Given the description of an element on the screen output the (x, y) to click on. 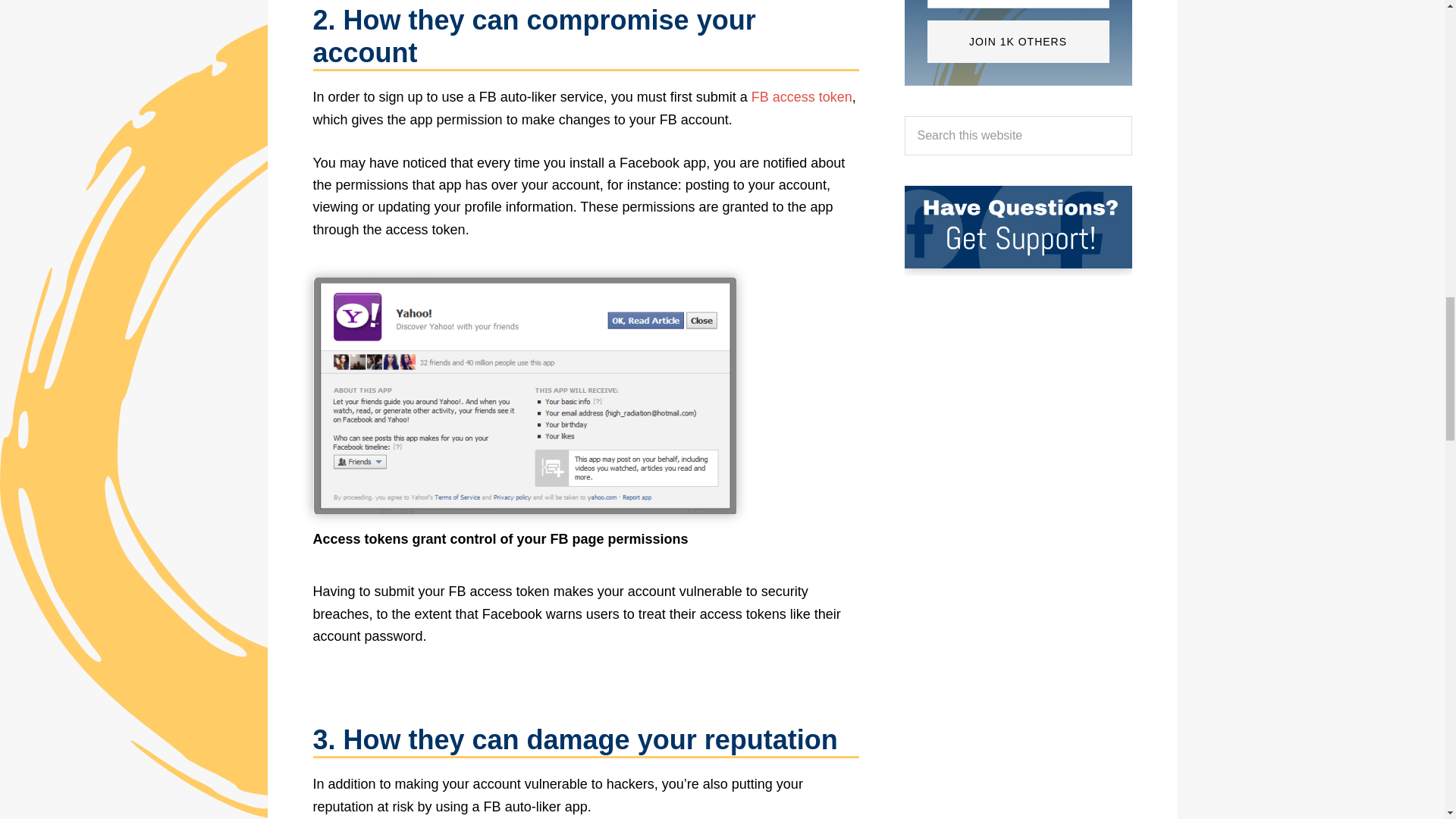
FB access token (801, 96)
JOIN 1K OTHERS (1017, 41)
